Given the description of an element on the screen output the (x, y) to click on. 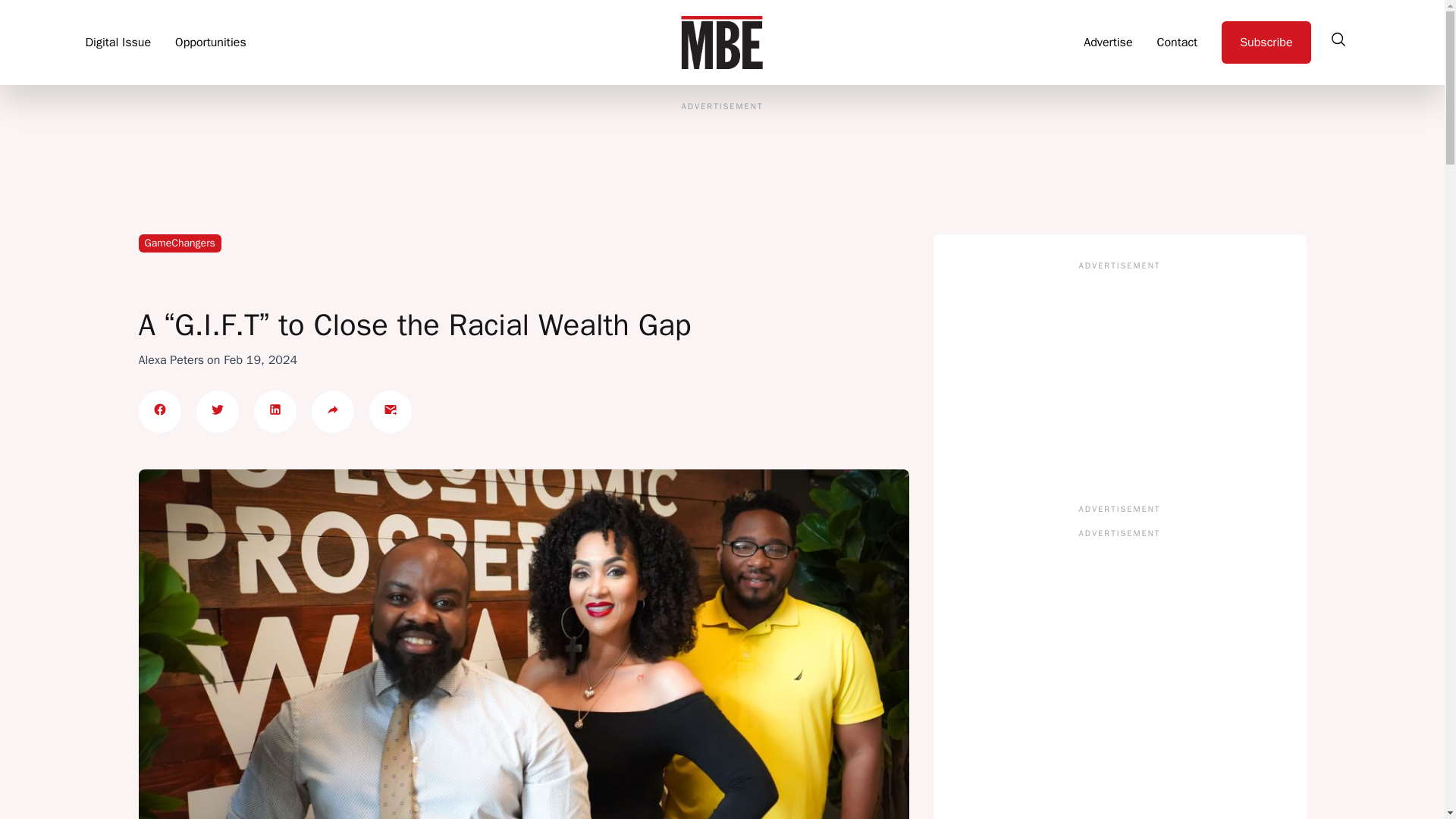
GameChangers (179, 242)
Contact (1177, 42)
Advertisement (1119, 376)
Subscribe (1265, 42)
Advertisement (1119, 684)
Opportunities (210, 42)
Advertise (1107, 42)
Digital Issue (117, 42)
